Given the description of an element on the screen output the (x, y) to click on. 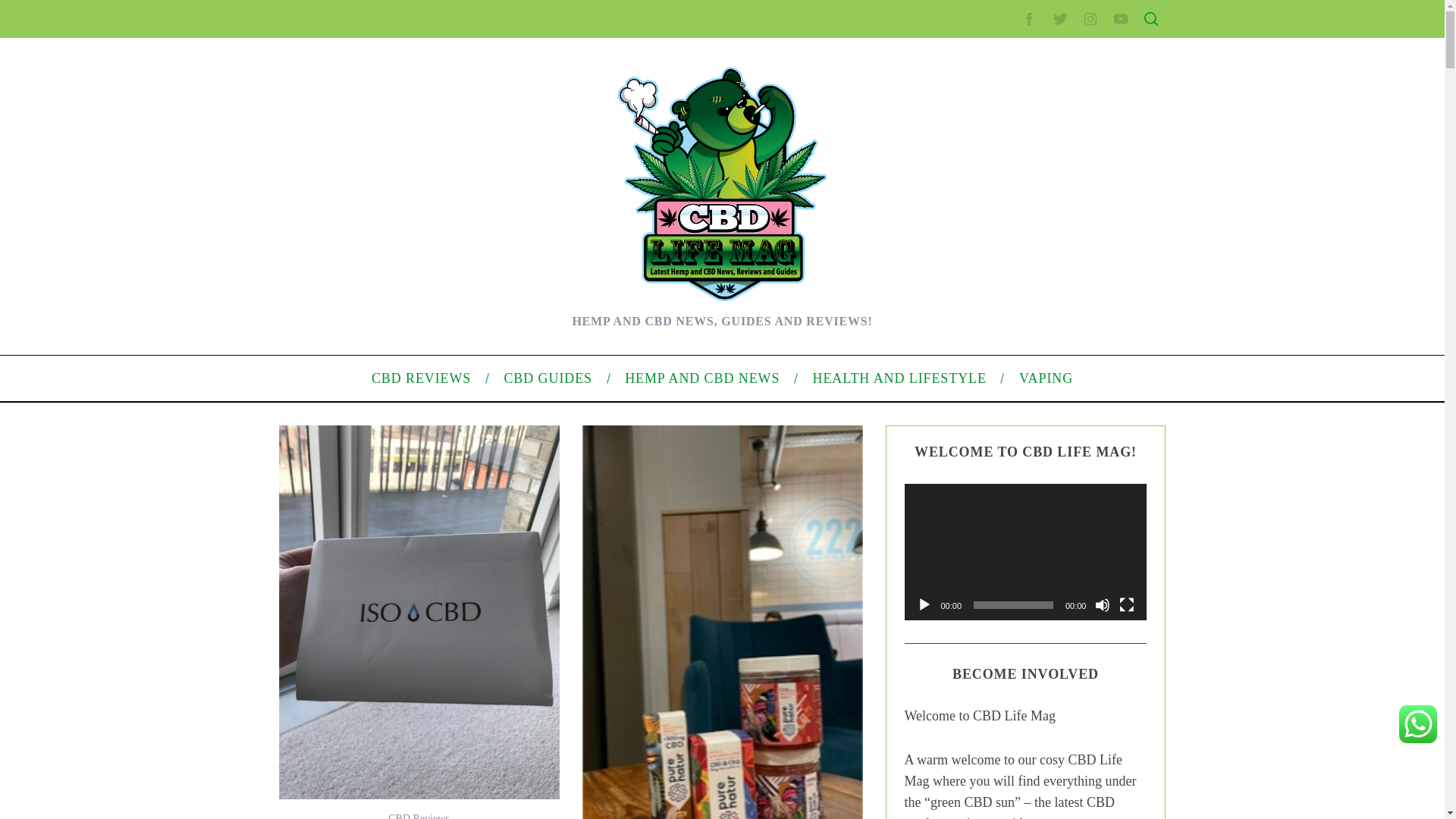
Latest Article (996, 172)
ADMINISTRATOR (417, 81)
Log in (980, 588)
Search (1050, 85)
Disclaimer (990, 354)
Contact Us (991, 258)
Joy Online (346, 467)
Search (1050, 85)
About The Author (362, 370)
DMCA Policy (996, 282)
Blog (976, 510)
Privacy Policy (999, 306)
The Dark Yorkshire Series: Books 4 To 6 (416, 250)
Terms of Use (996, 330)
Skip to content (34, 9)
